Given the description of an element on the screen output the (x, y) to click on. 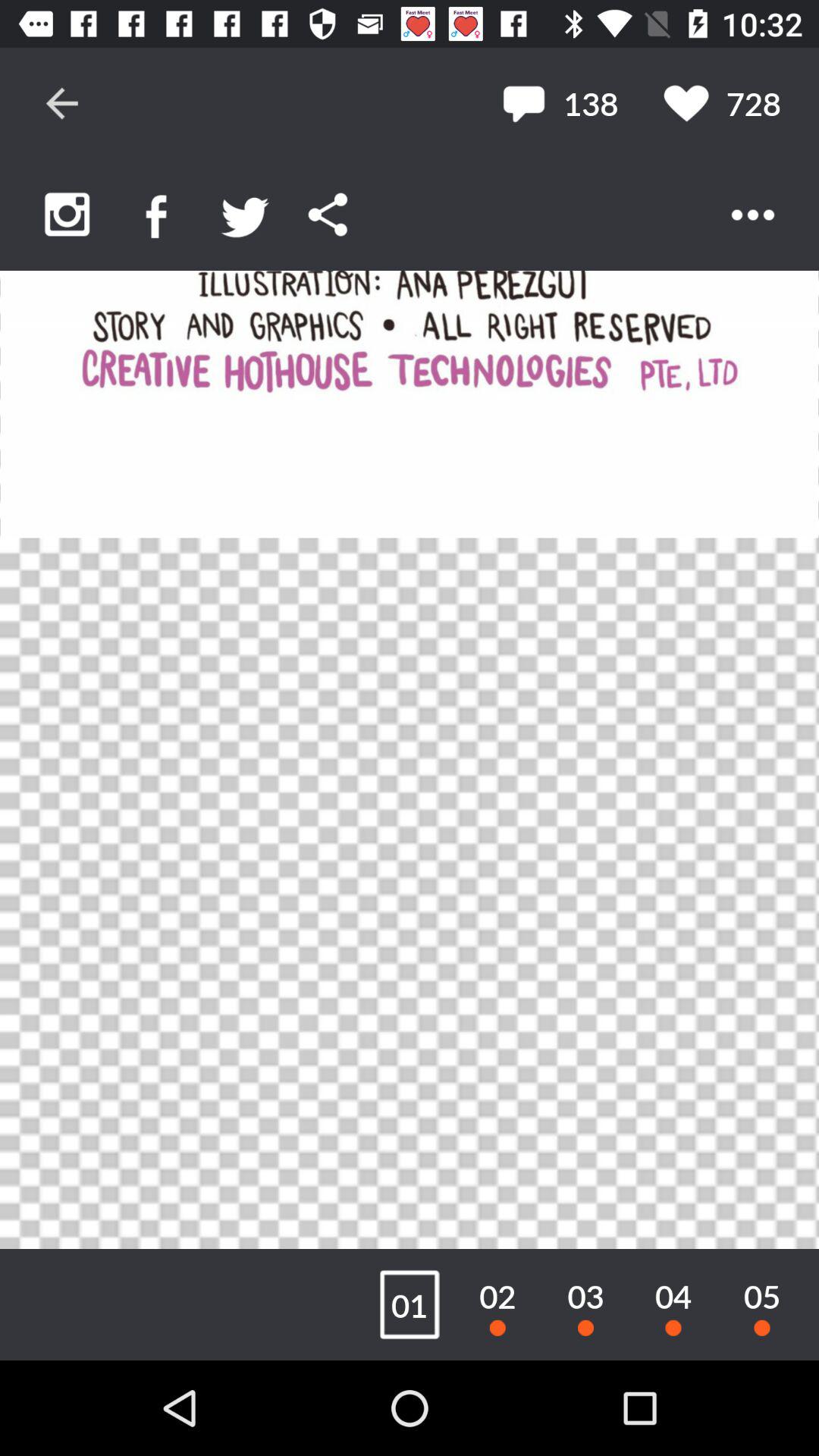
open the item next to the 728  item (559, 103)
